Given the description of an element on the screen output the (x, y) to click on. 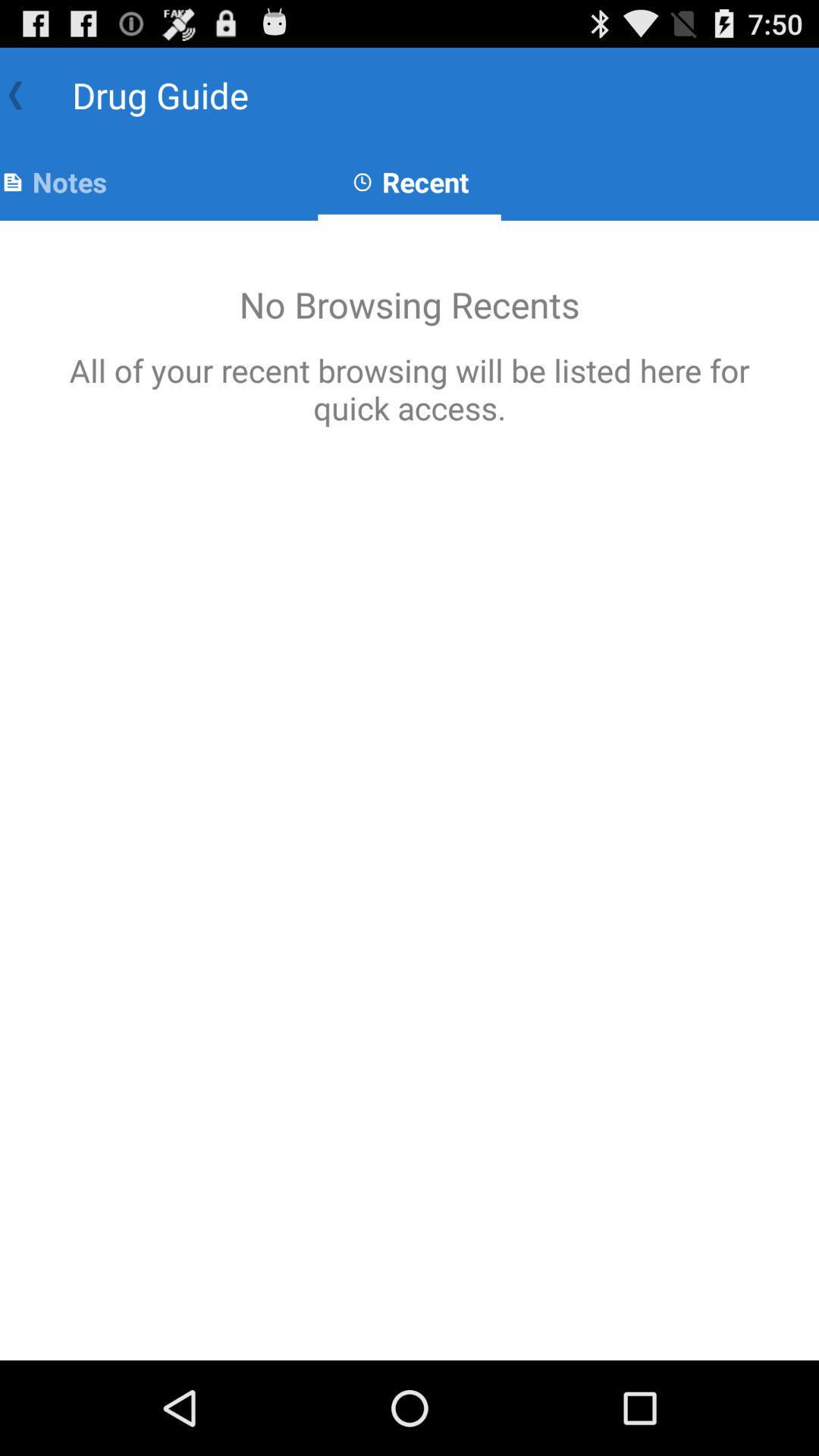
tap icon to the left of   recent app (53, 181)
